Given the description of an element on the screen output the (x, y) to click on. 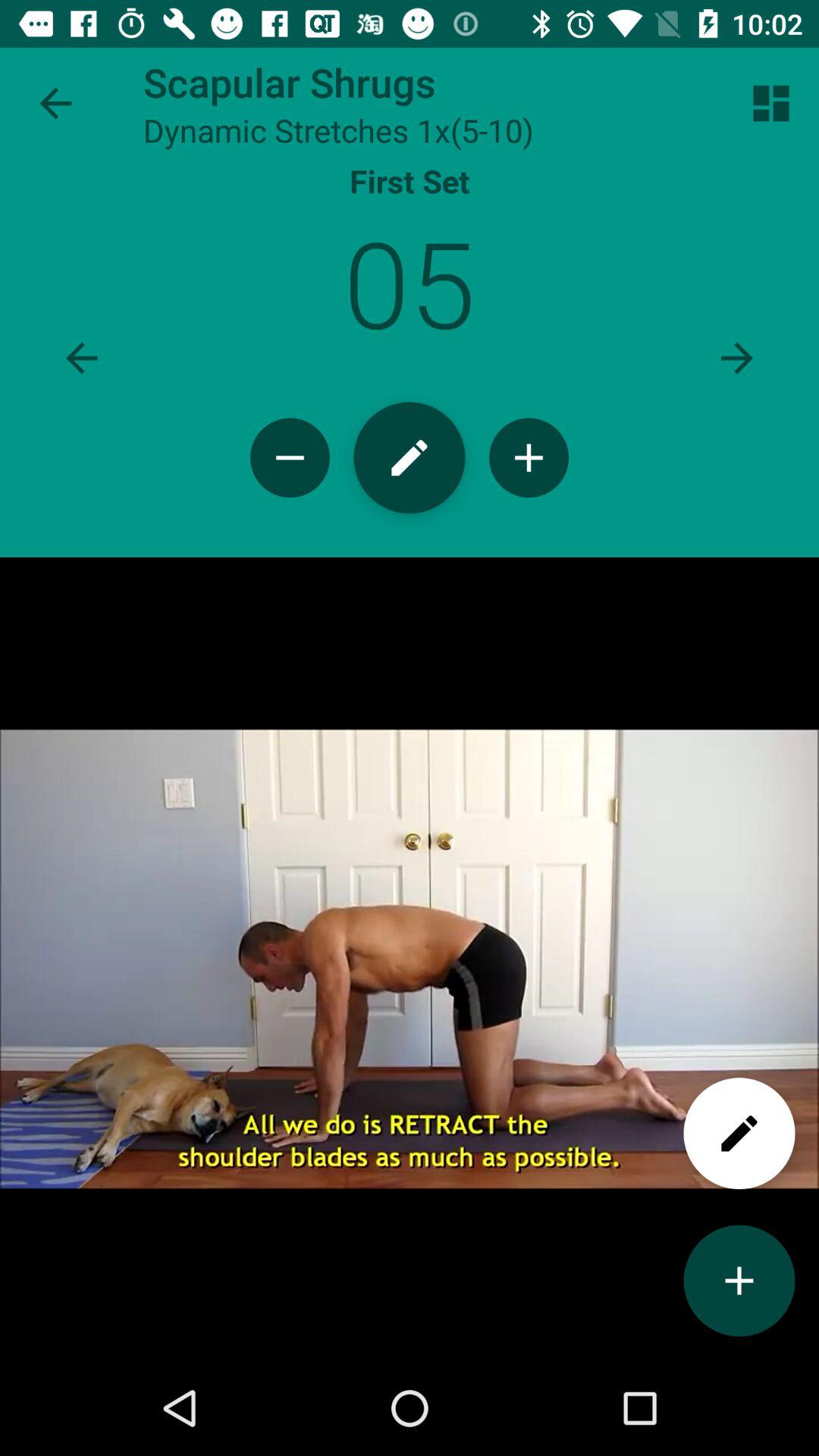
go to previous arrow (81, 358)
